Given the description of an element on the screen output the (x, y) to click on. 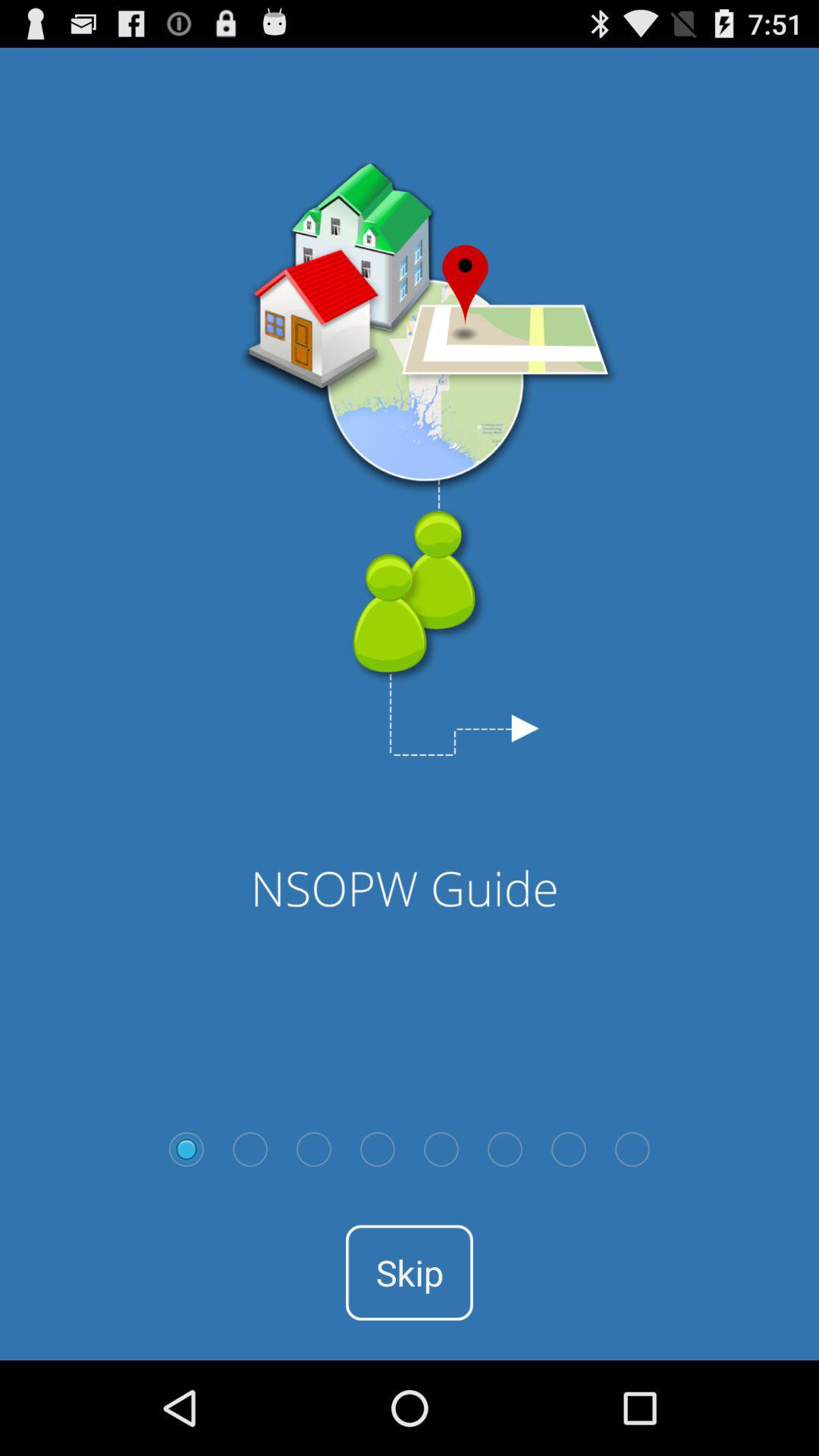
page 4 (377, 1149)
